Given the description of an element on the screen output the (x, y) to click on. 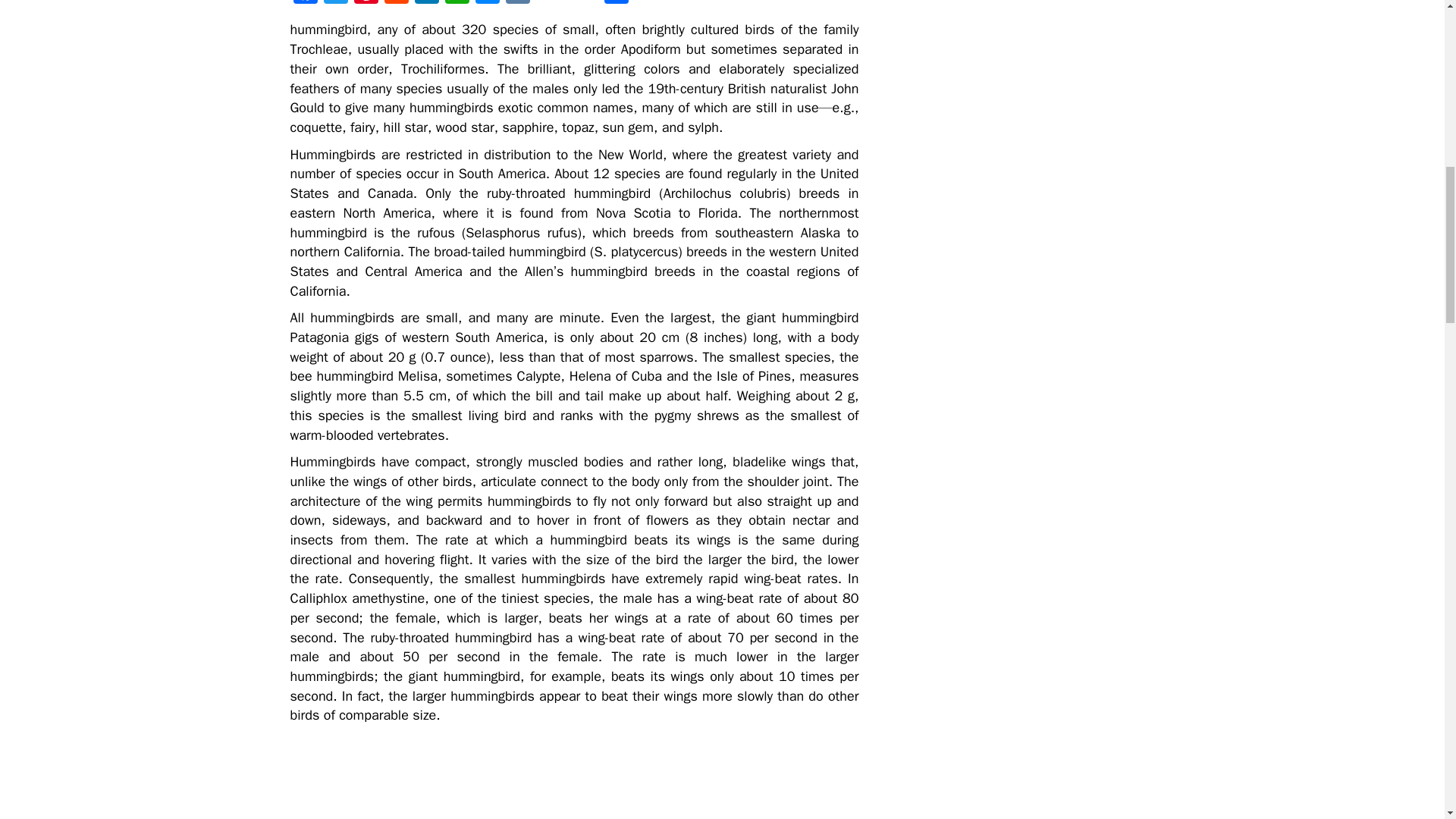
LinkedIn (425, 4)
Facebook (304, 4)
LinkedIn (425, 4)
VK (517, 4)
Advertisement (402, 776)
Reddit (395, 4)
VK (517, 4)
Messenger (486, 4)
Reddit (395, 4)
Facebook (304, 4)
Pinterest (365, 4)
Messenger (486, 4)
WhatsApp (456, 4)
Pinterest (365, 4)
Twitter (335, 4)
